Given the description of an element on the screen output the (x, y) to click on. 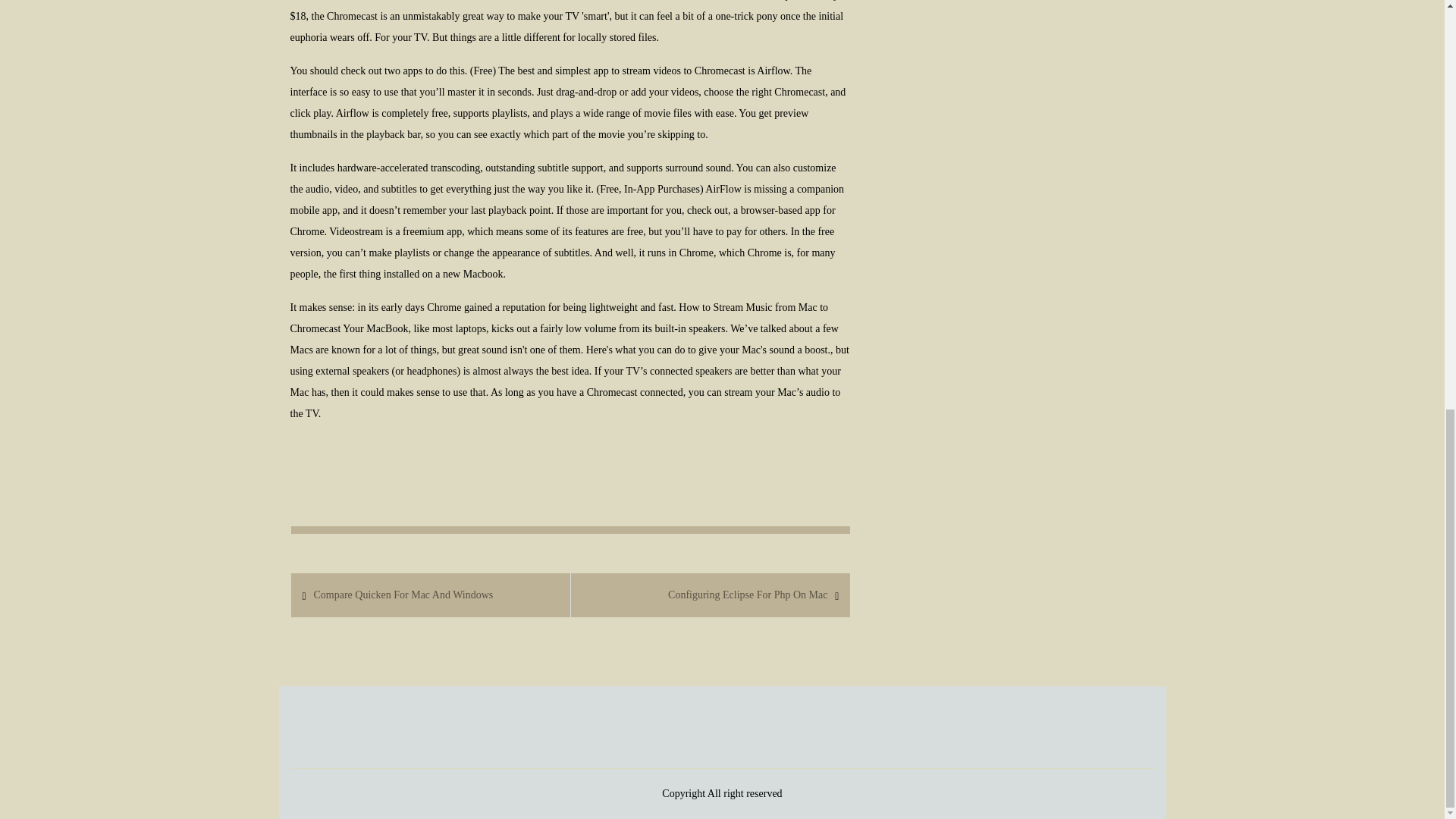
Configuring Eclipse For Php On Mac (747, 595)
Compare Quicken For Mac And Windows (402, 595)
